Given the description of an element on the screen output the (x, y) to click on. 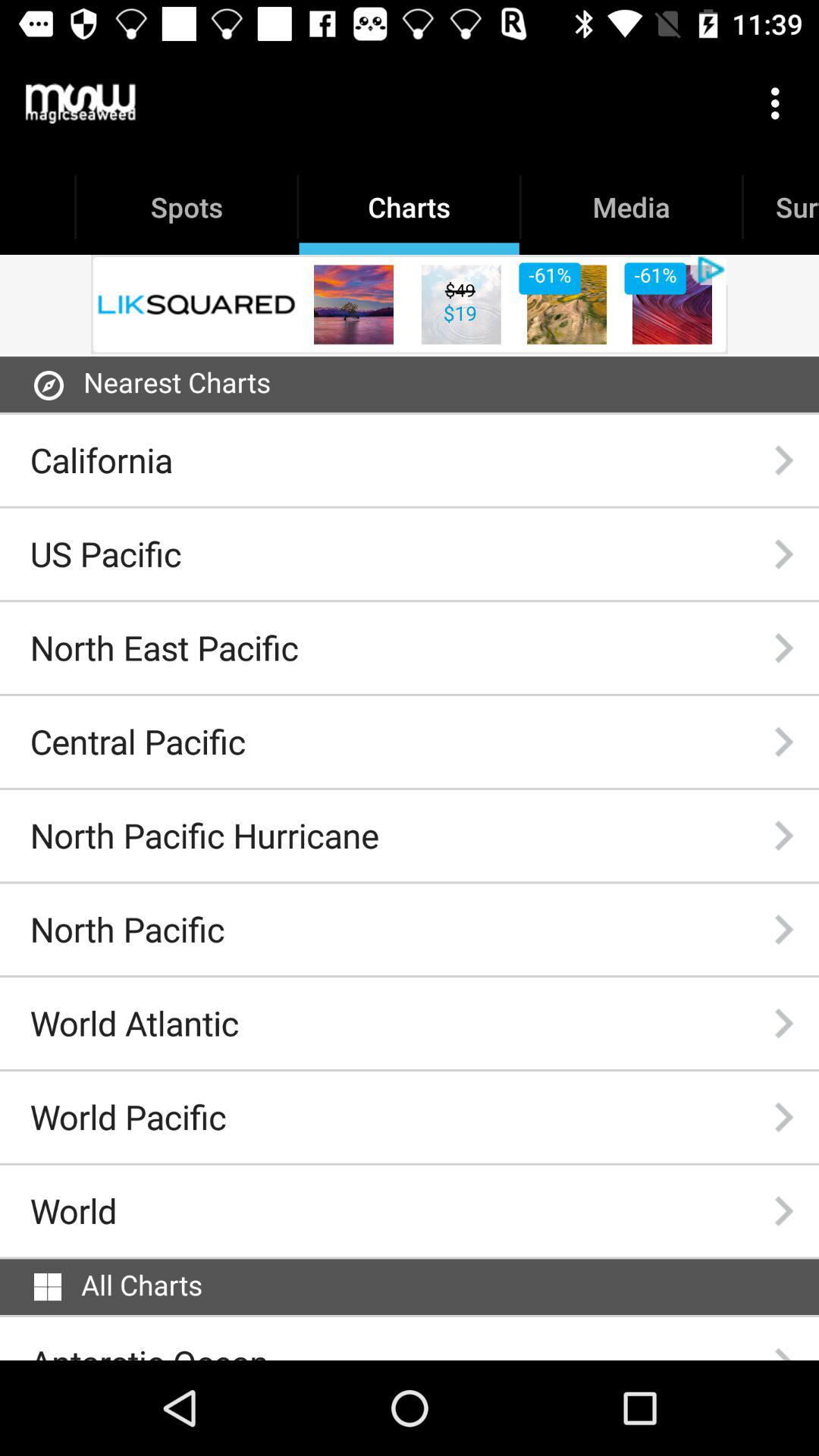
launch the item next to the charts (80, 103)
